Given the description of an element on the screen output the (x, y) to click on. 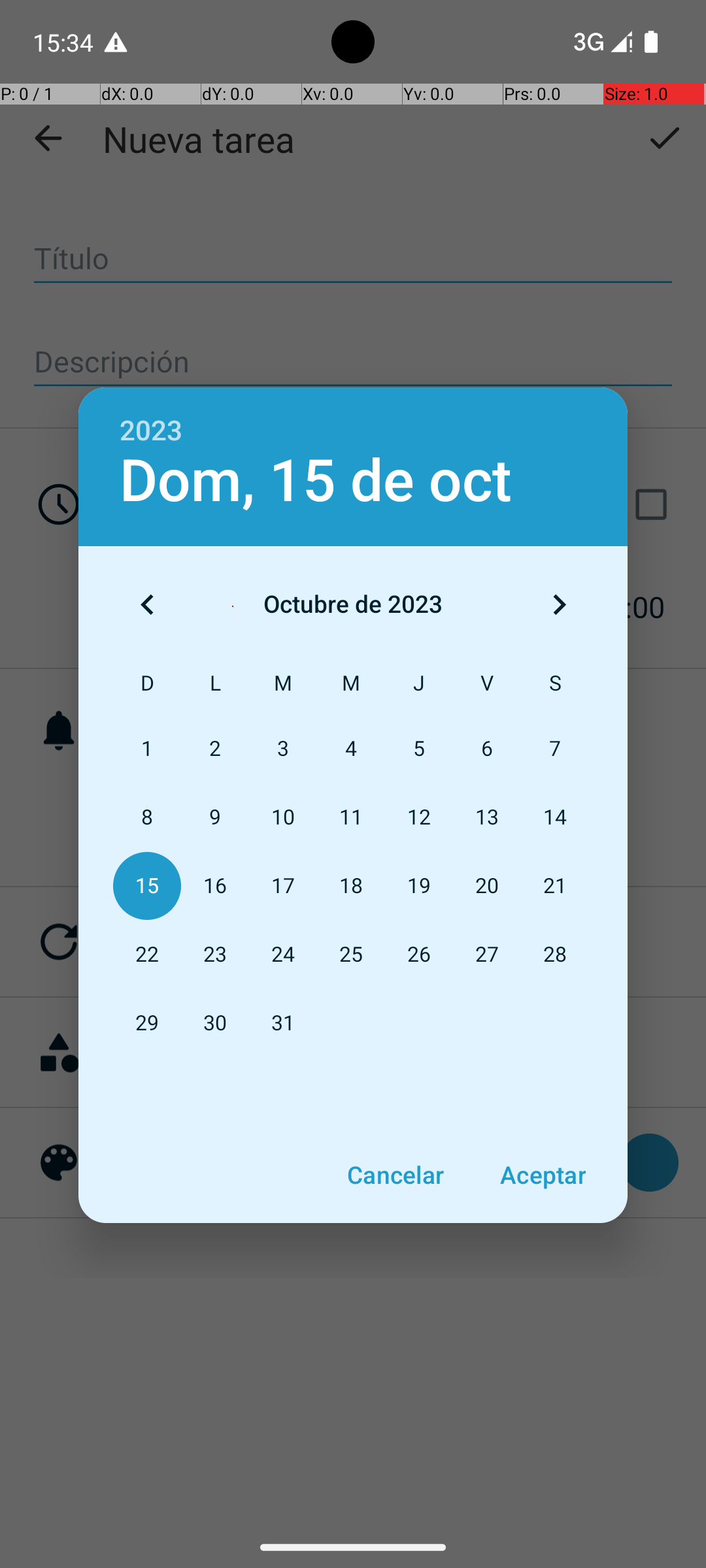
Dom, 15 de oct Element type: android.widget.TextView (315, 480)
Mes anterior Element type: android.widget.ImageButton (146, 604)
Mes siguiente Element type: android.widget.ImageButton (558, 604)
Cancelar Element type: android.widget.Button (394, 1174)
Aceptar Element type: android.widget.Button (542, 1174)
